Given the description of an element on the screen output the (x, y) to click on. 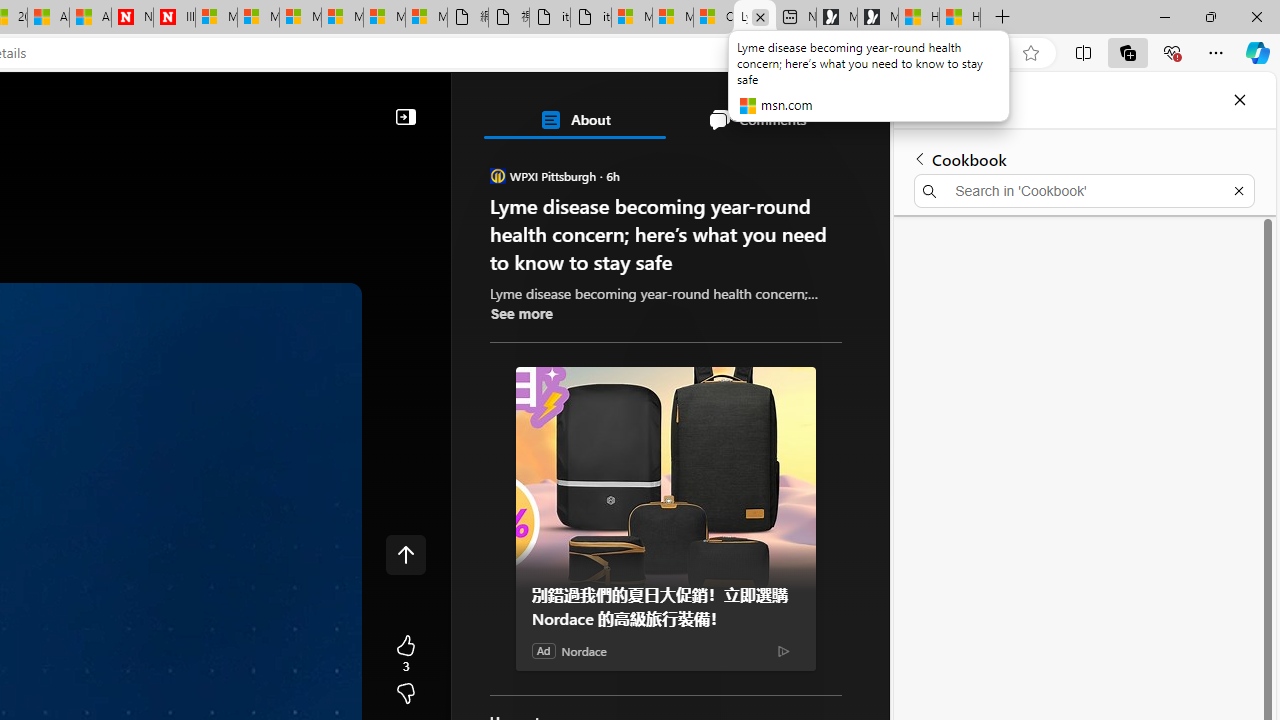
itconcepthk.com/projector_solutions.mp4 (590, 17)
Microsoft Services Agreement (258, 17)
Collections (948, 99)
Microsoft Start Gaming (877, 17)
Browser essentials (1171, 52)
Comments (756, 119)
Restore (1210, 16)
Microsoft rewards (764, 105)
Collapse (406, 115)
The Wall Street Journal (584, 645)
